Given the description of an element on the screen output the (x, y) to click on. 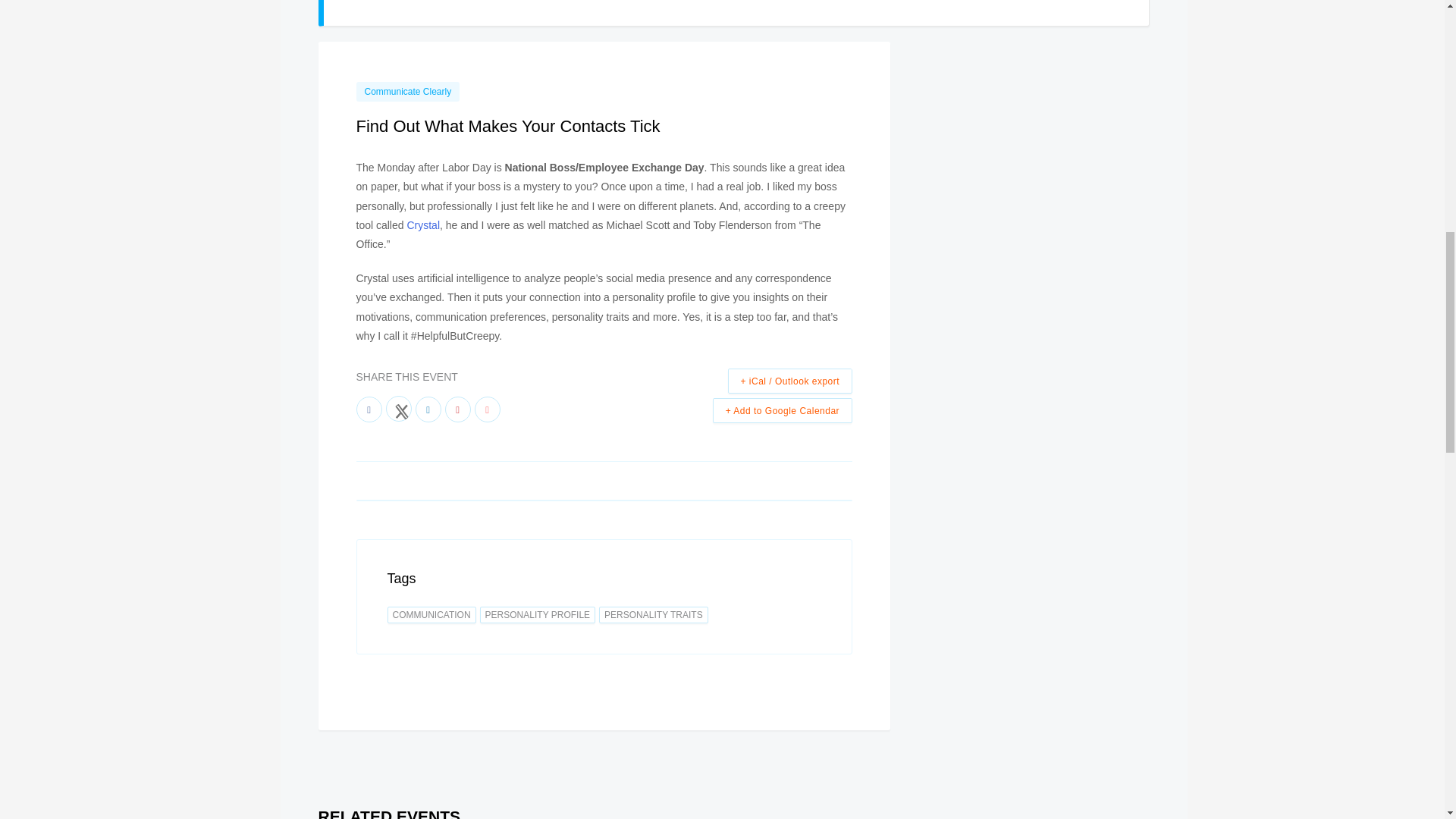
Linkedin (427, 409)
Share on Facebook (368, 409)
X Social Network (397, 408)
Share on Pinterest (457, 409)
Email (487, 409)
